Given the description of an element on the screen output the (x, y) to click on. 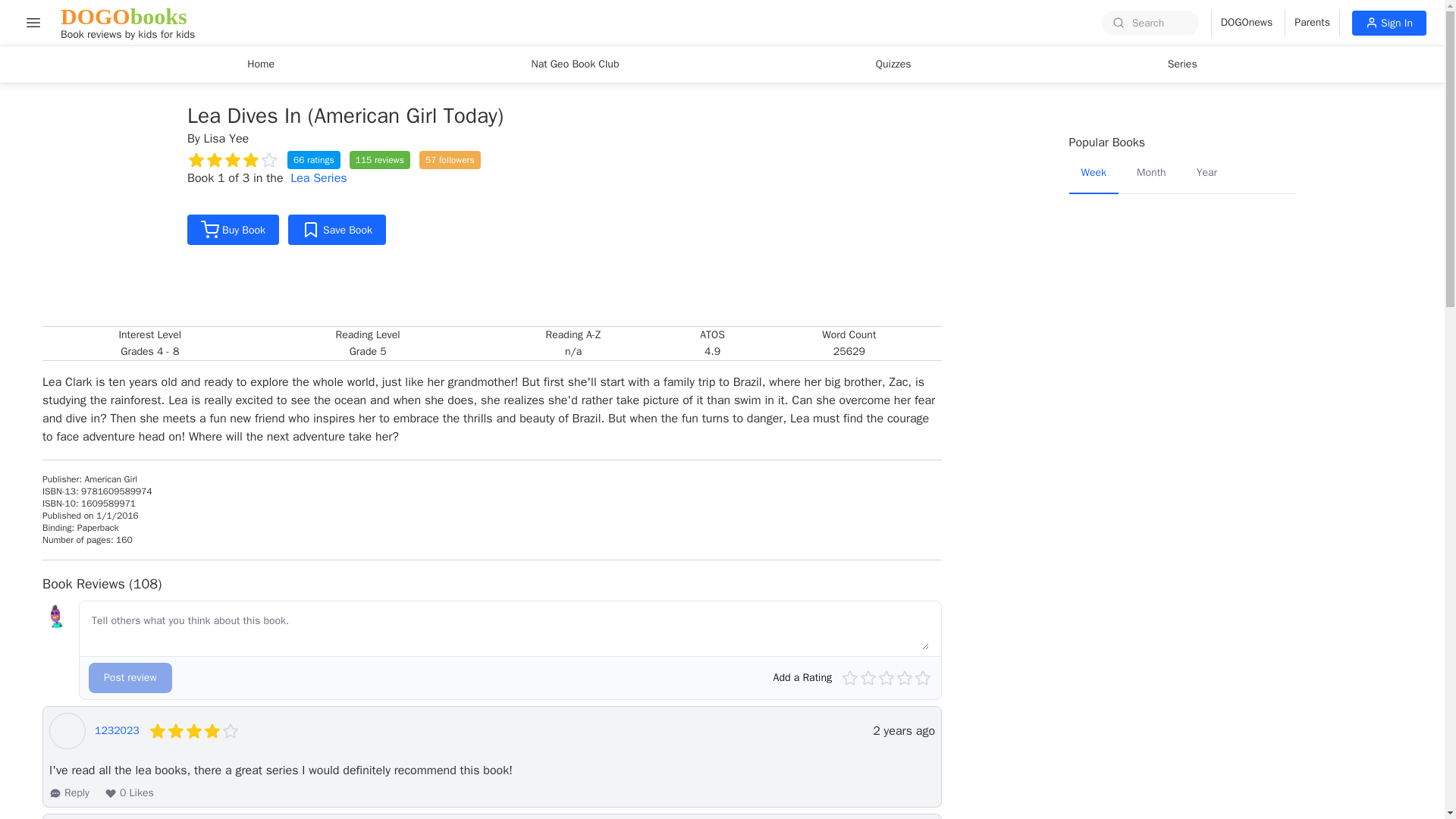
Home (260, 63)
1232023 (116, 730)
0 Likes (129, 792)
Open main menu (33, 22)
Lea Series (317, 177)
October 23, 2022 (903, 730)
Buy Book (233, 229)
Quizzes (893, 63)
Post review (129, 677)
Save Book (336, 229)
